Given the description of an element on the screen output the (x, y) to click on. 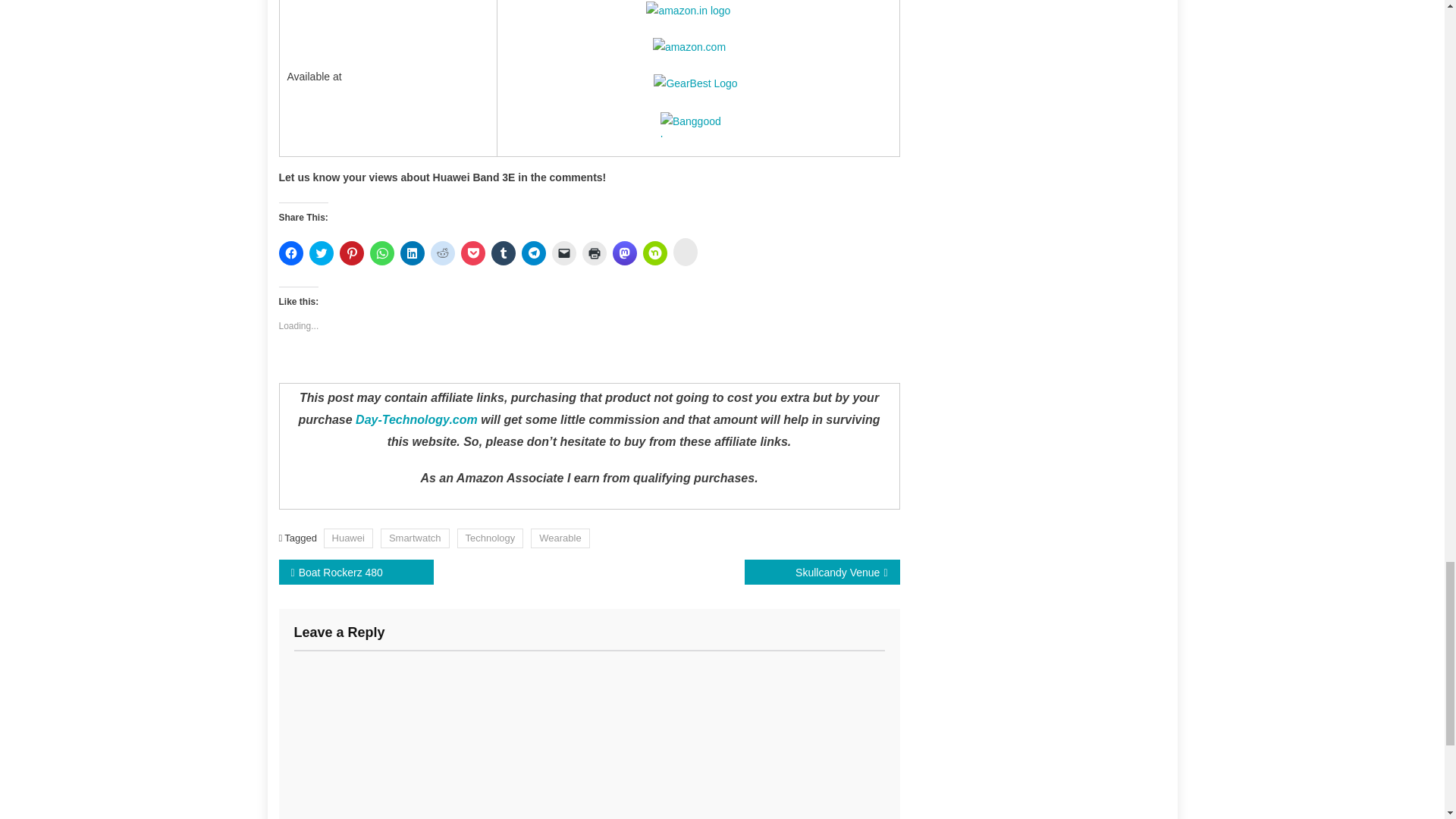
Click to email a link to a friend (563, 252)
Click to share on WhatsApp (381, 252)
Click to share on Pocket (472, 252)
Click to share on Reddit (442, 252)
Click to print (594, 252)
Click to share on Mastodon (624, 252)
Click to share on Twitter (320, 252)
Click to share on Pinterest (351, 252)
Click to share on Facebook (290, 252)
Click to share on Tumblr (503, 252)
